Given the description of an element on the screen output the (x, y) to click on. 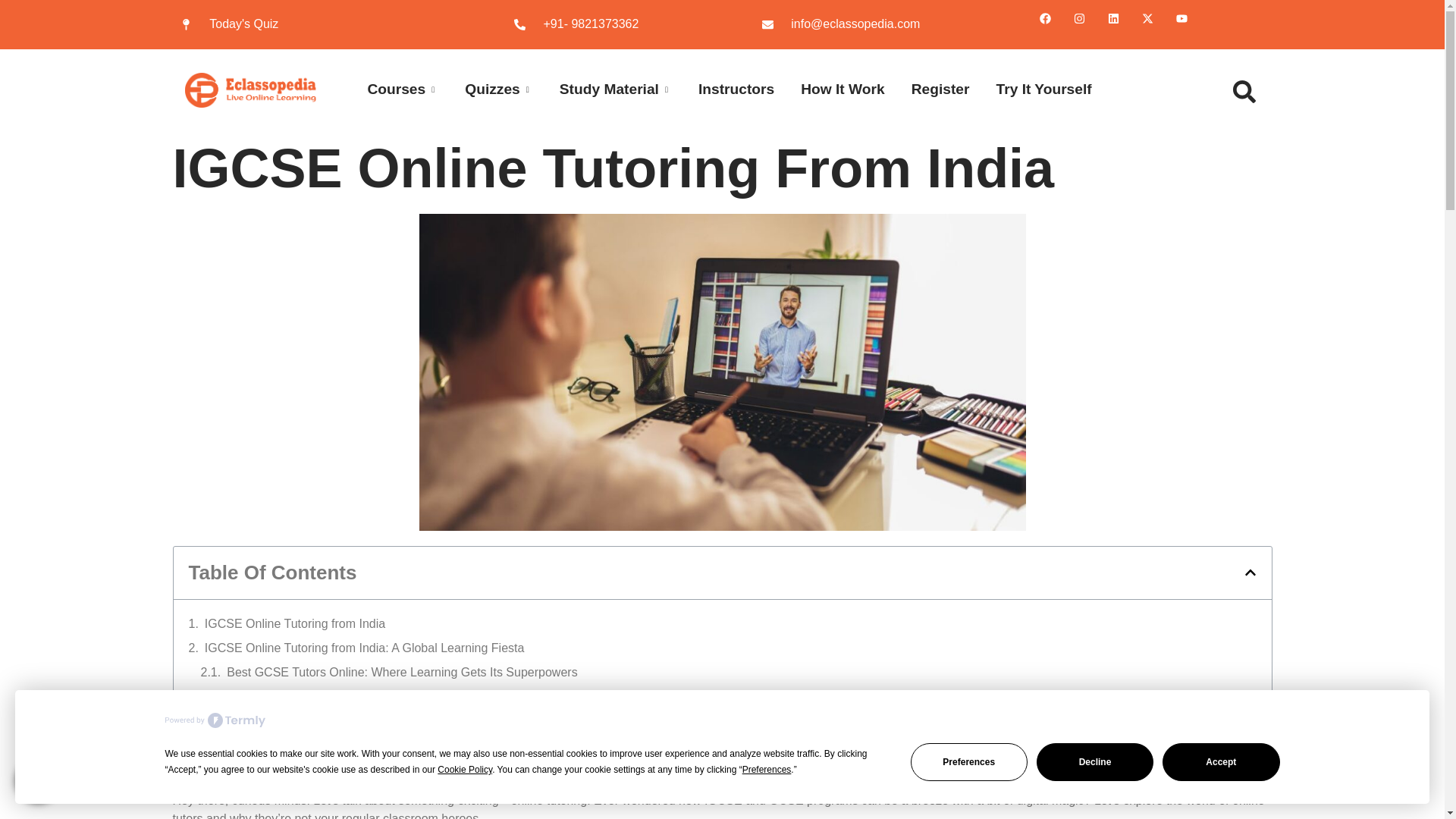
Courses (389, 90)
Preferences (969, 761)
Accept (1220, 761)
Quizzes (485, 90)
Today's Quiz (316, 24)
Decline (1094, 761)
